Given the description of an element on the screen output the (x, y) to click on. 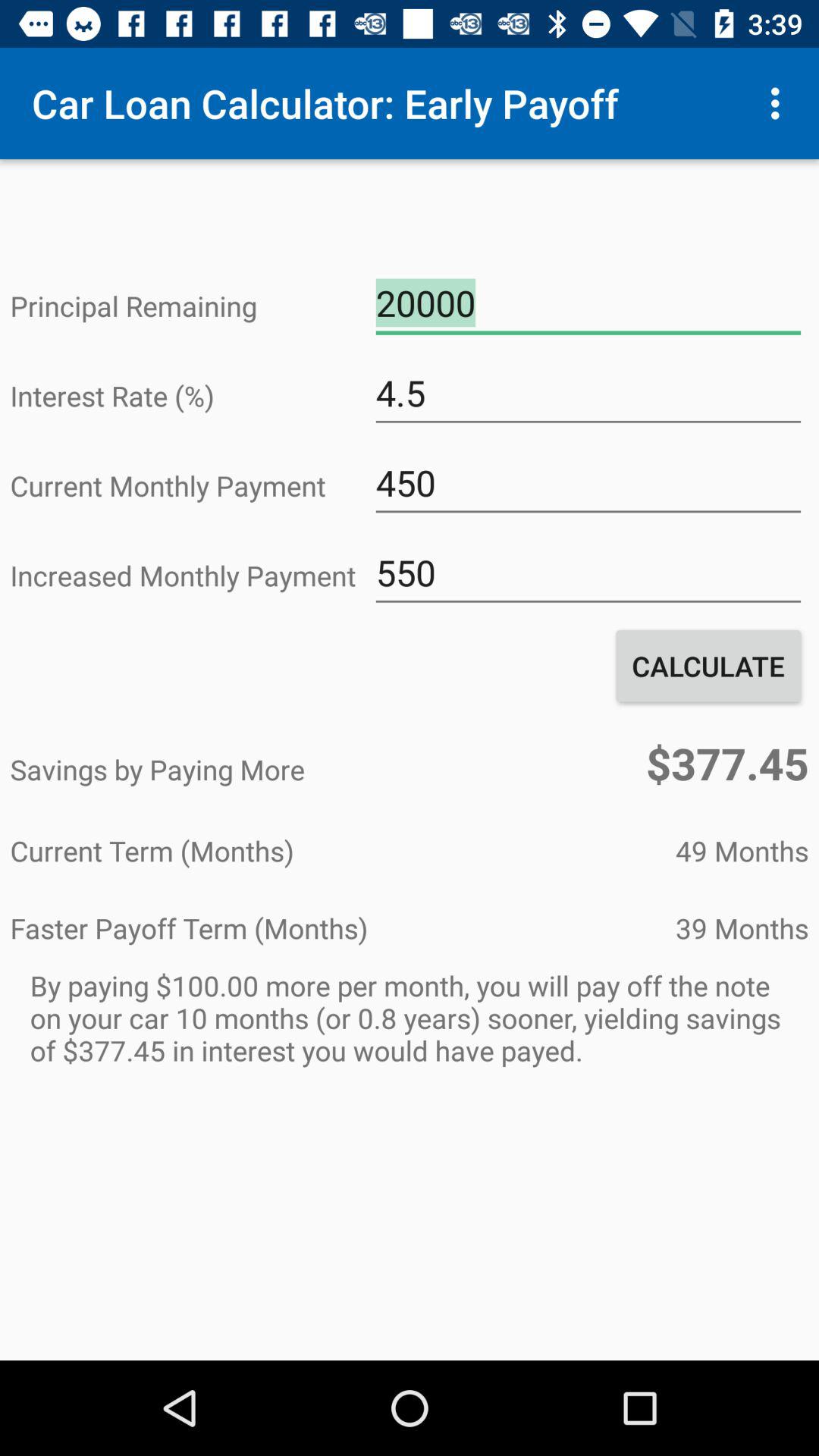
turn off the item to the right of the principal remaining item (587, 303)
